Given the description of an element on the screen output the (x, y) to click on. 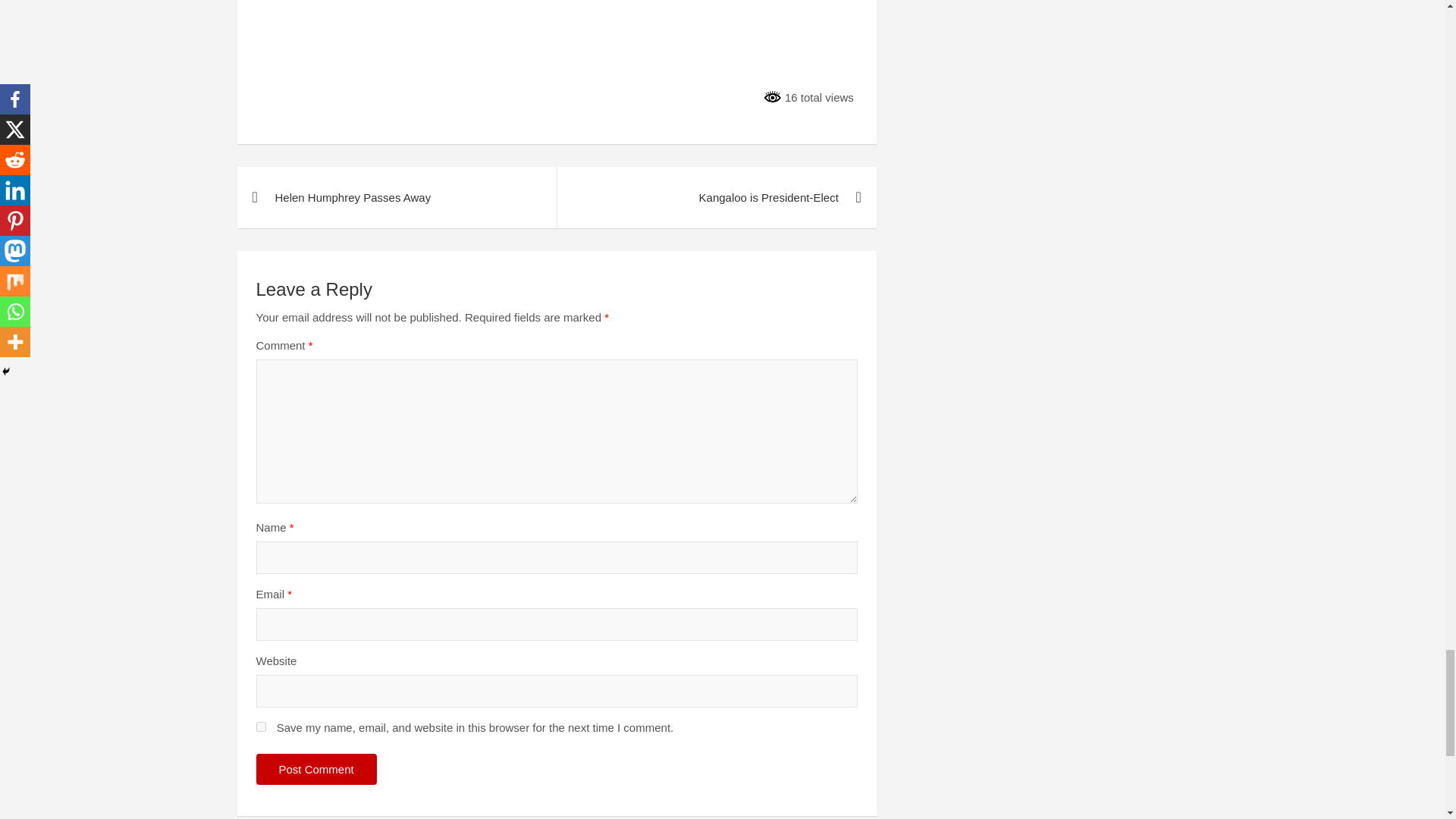
yes (261, 726)
Post Comment (316, 768)
